Given the description of an element on the screen output the (x, y) to click on. 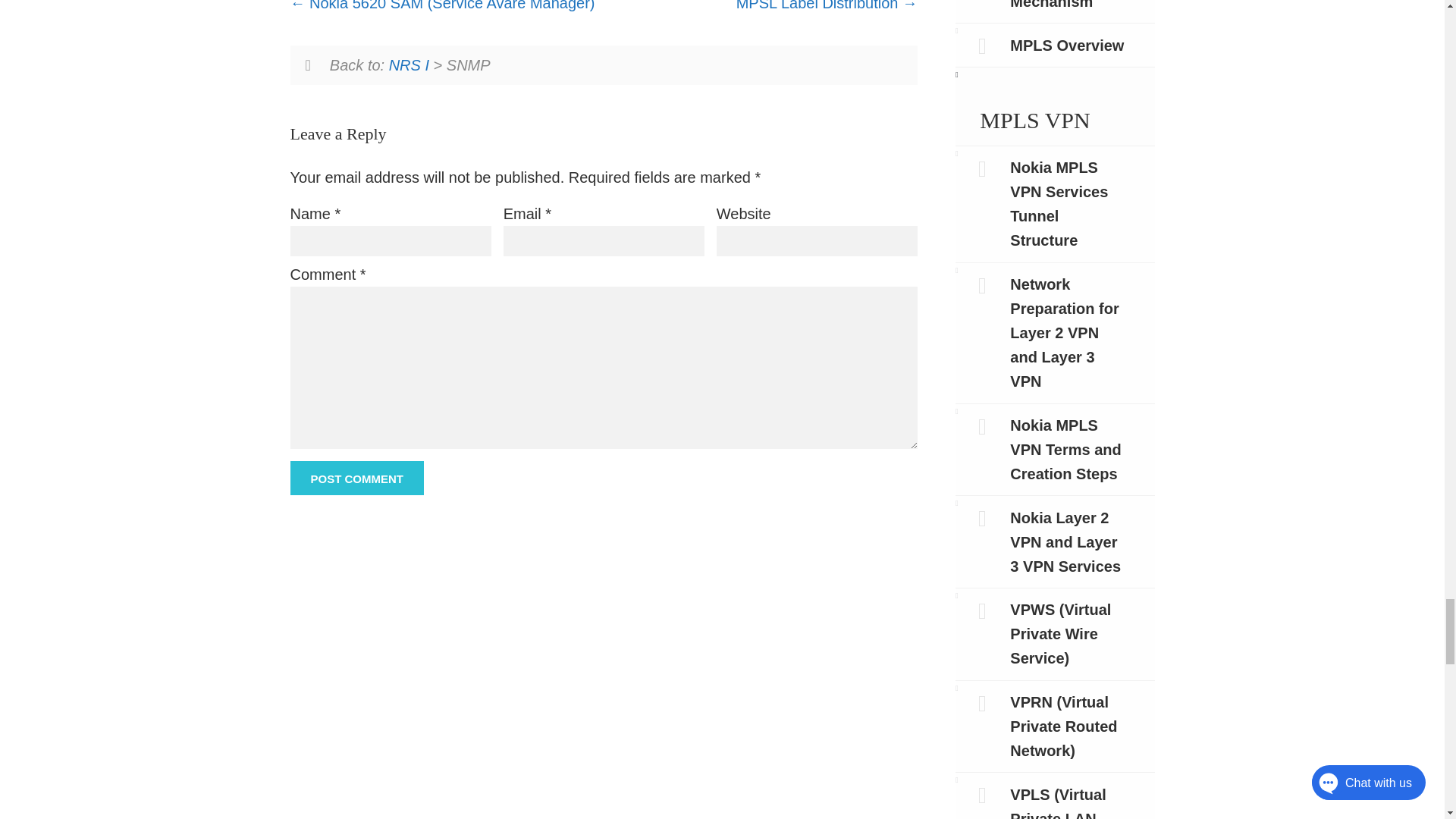
Post Comment (356, 478)
Back to the course (408, 64)
